Given the description of an element on the screen output the (x, y) to click on. 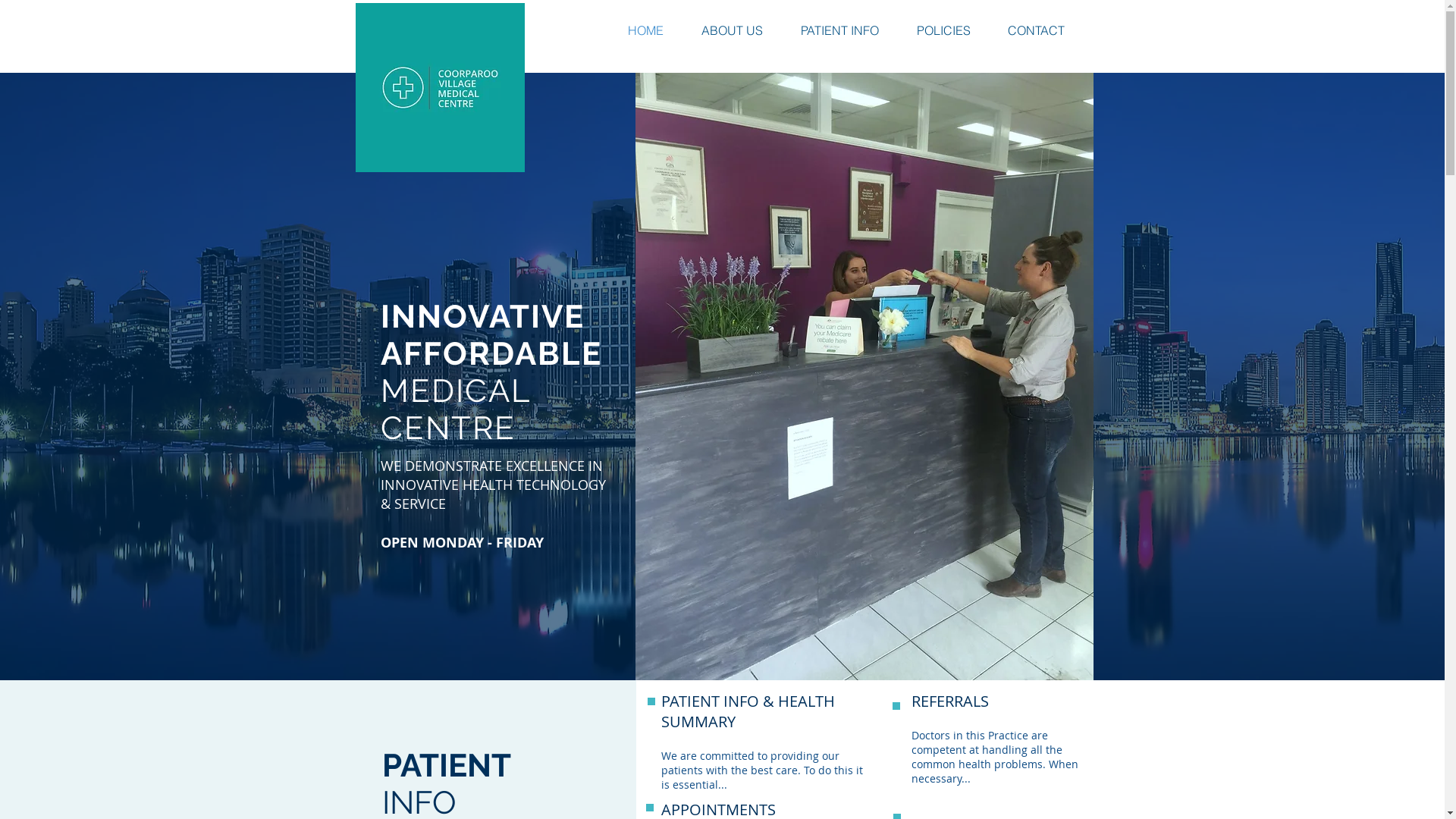
ABOUT US Element type: text (742, 29)
Embedded Content Element type: hover (721, 376)
CONTACT Element type: text (1046, 29)
HOME Element type: text (656, 29)
POLICIES Element type: text (953, 29)
PATIENT INFO Element type: text (851, 29)
REFERRALS Element type: text (949, 700)
PATIENT INFO & HEALTH SUMMARY Element type: text (747, 710)
